Given the description of an element on the screen output the (x, y) to click on. 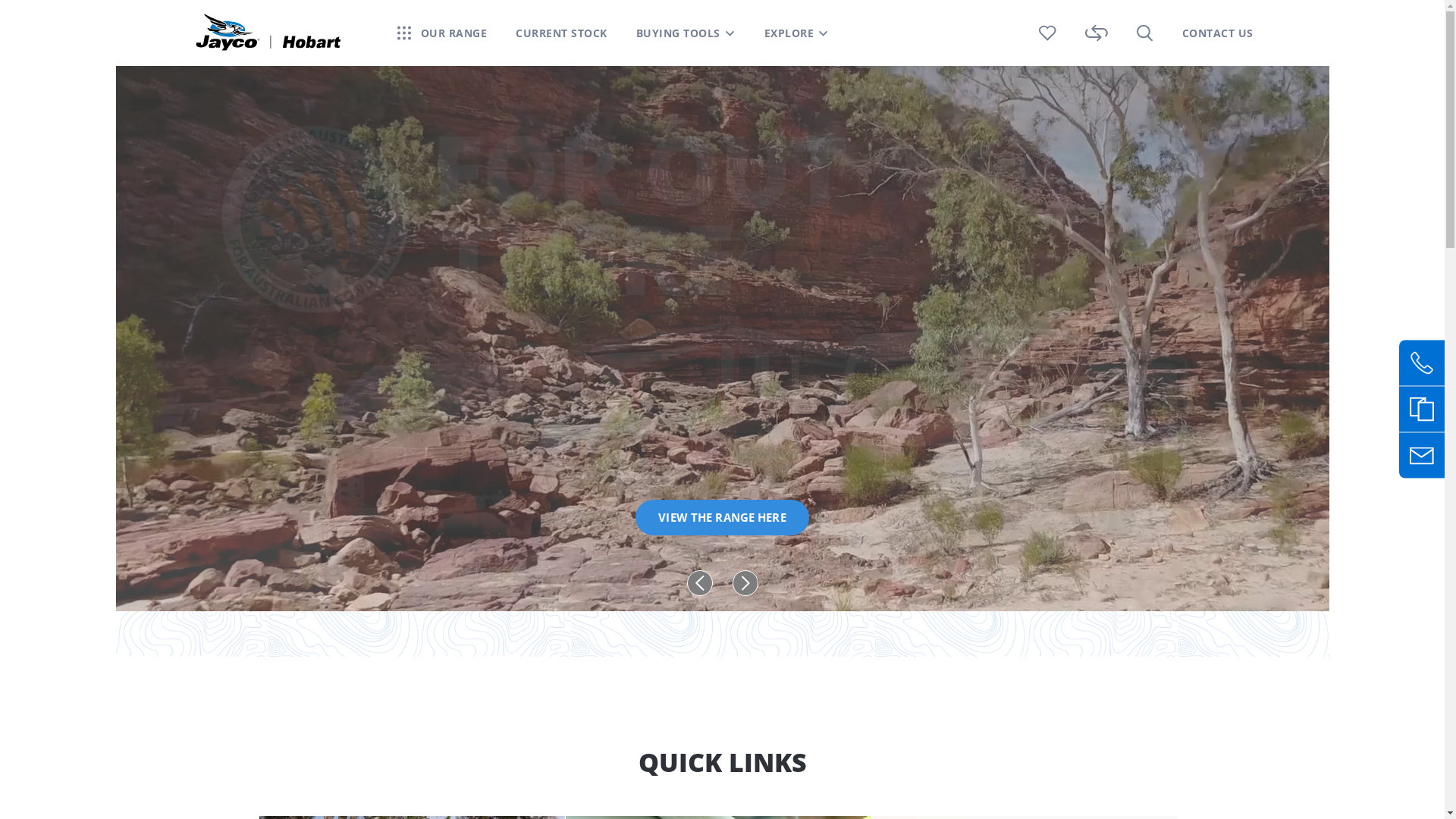
CONTACT US Element type: text (1216, 32)
EXPLORE Element type: text (796, 32)
OUR RANGE Element type: text (442, 32)
OUR RANGE Element type: text (453, 32)
CURRENT STOCK Element type: text (561, 32)
CONTACT US Element type: text (1216, 32)
BUYING TOOLS Element type: text (677, 32)
BUYING TOOLS Element type: text (684, 32)
EXPLORE Element type: text (789, 32)
CURRENT STOCK Element type: text (561, 32)
